Given the description of an element on the screen output the (x, y) to click on. 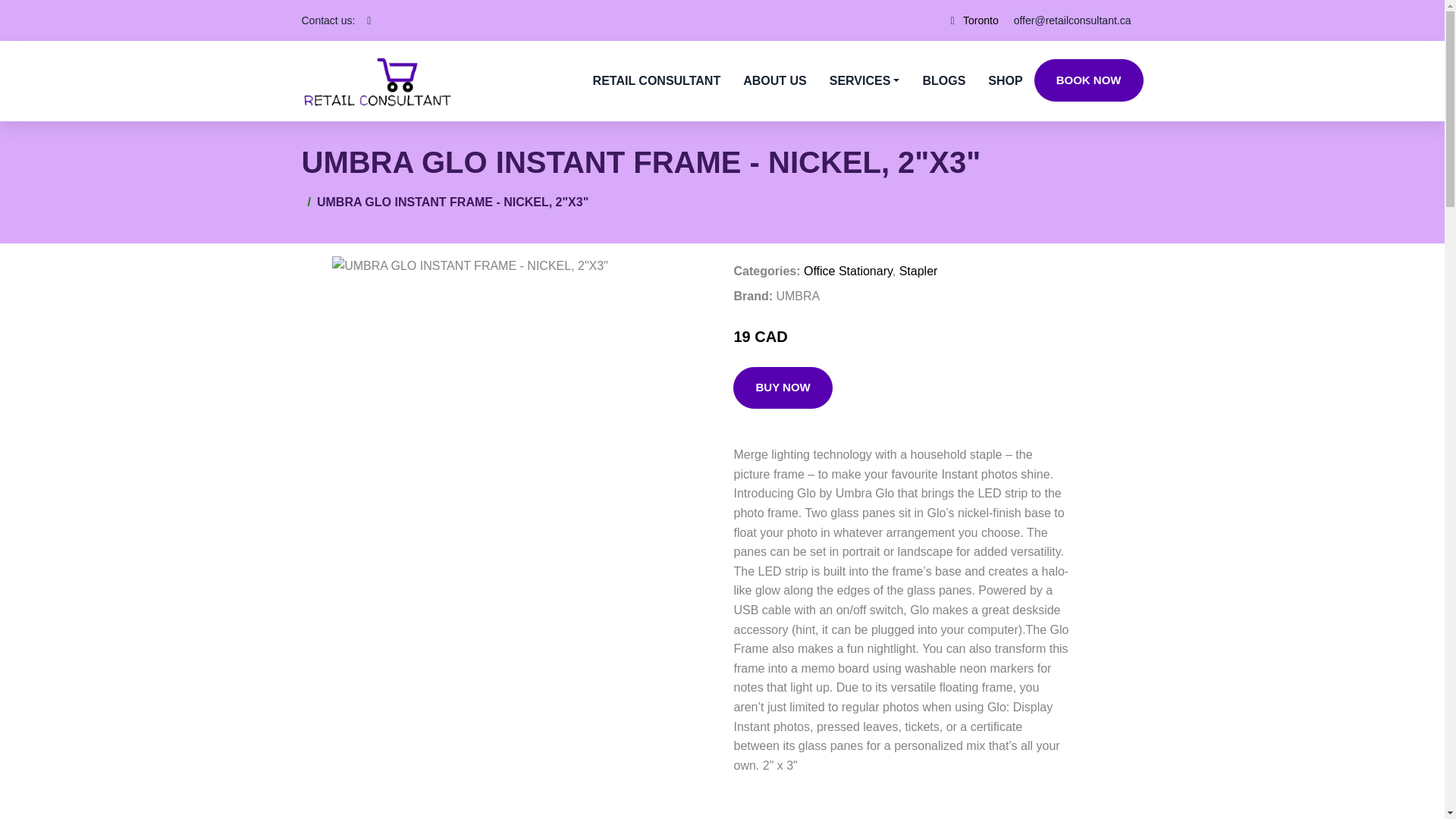
SERVICES (864, 80)
ABOUT US (775, 80)
RETAIL CONSULTANT (656, 80)
Office Stationary (847, 270)
BUY NOW (782, 387)
BOOK NOW (1087, 79)
Toronto (980, 20)
Stapler (918, 270)
